Given the description of an element on the screen output the (x, y) to click on. 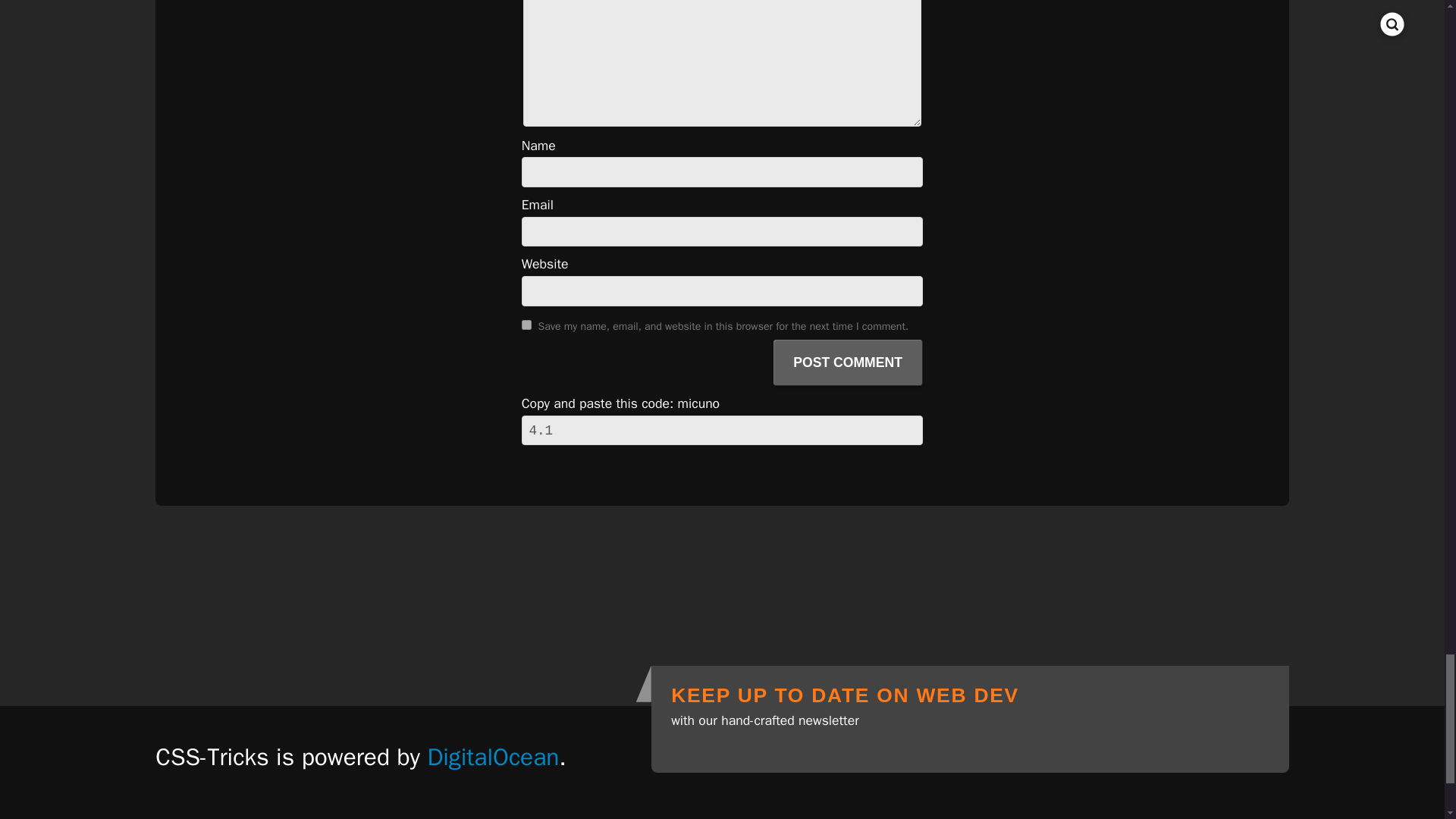
DigitalOcean (492, 757)
Post Comment (848, 362)
4.1 (722, 430)
Post Comment (848, 362)
yes (526, 325)
